Given the description of an element on the screen output the (x, y) to click on. 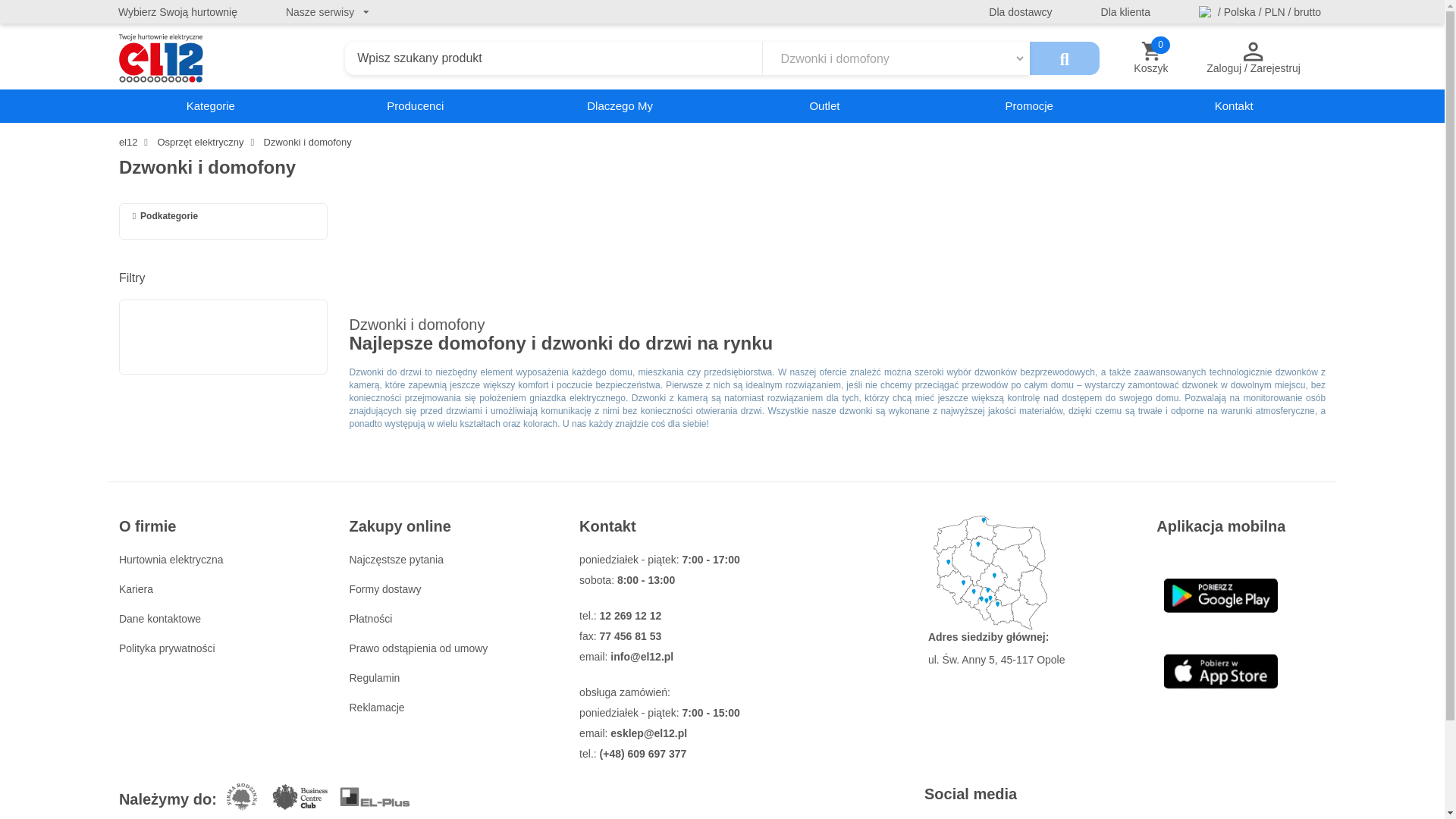
el12.com - Sklep internetowy el12 (226, 58)
User icon (1253, 51)
Aplikacja mobilna el12 (1150, 58)
Dane kontaktowe (1220, 595)
Producenci (159, 618)
Cart icon (415, 105)
Koszty dostawy (1150, 51)
Aplikacja mobilna el12 (384, 589)
Hurtownia elektryczna (1220, 671)
Outlet (171, 559)
Promocje (824, 105)
Dzwonki i domofony (1028, 105)
Kontakt (307, 142)
Reklamacje (1233, 105)
